Given the description of an element on the screen output the (x, y) to click on. 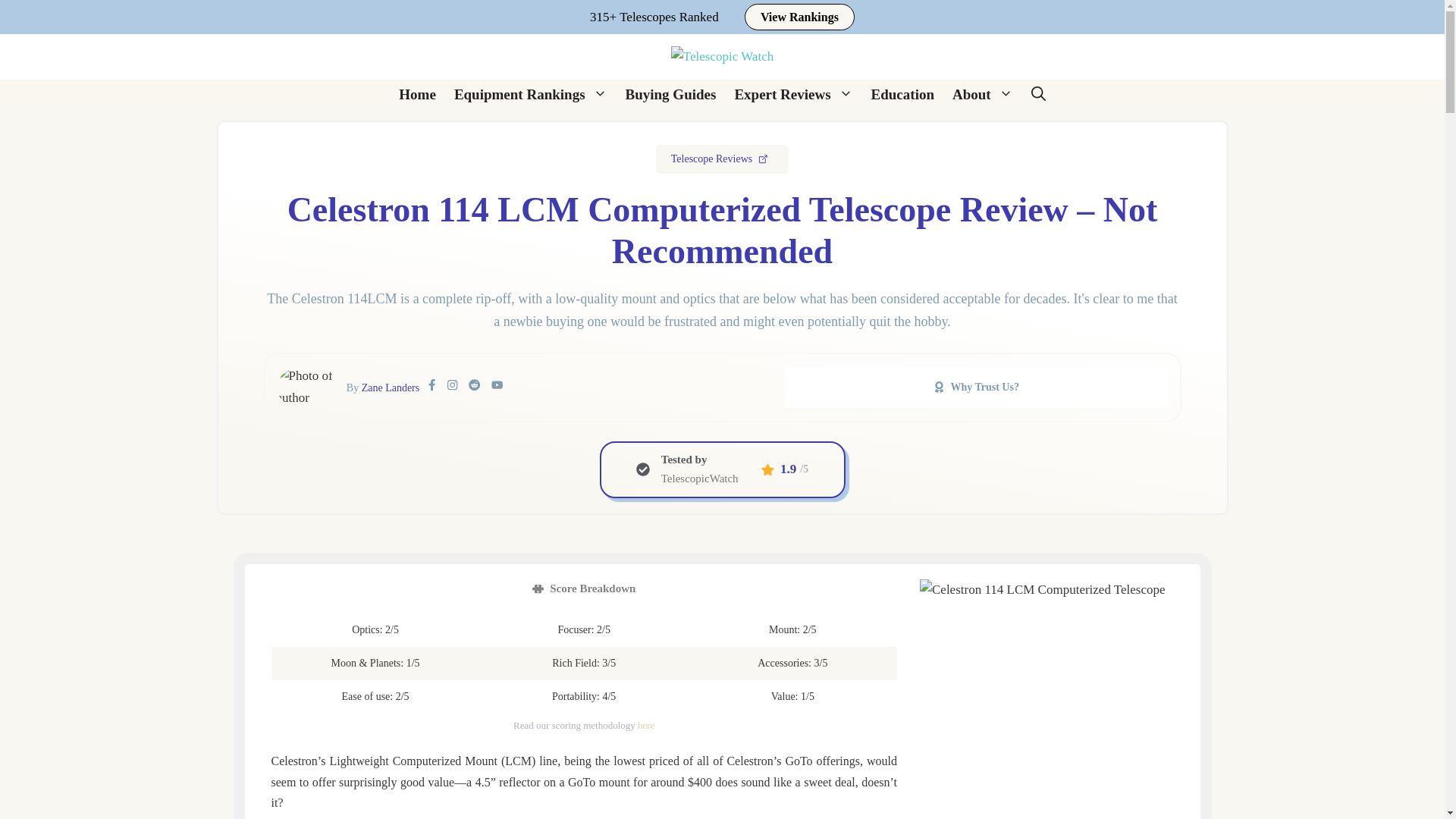
Home (417, 93)
Equipment Rankings (530, 93)
View Rankings (799, 17)
